Given the description of an element on the screen output the (x, y) to click on. 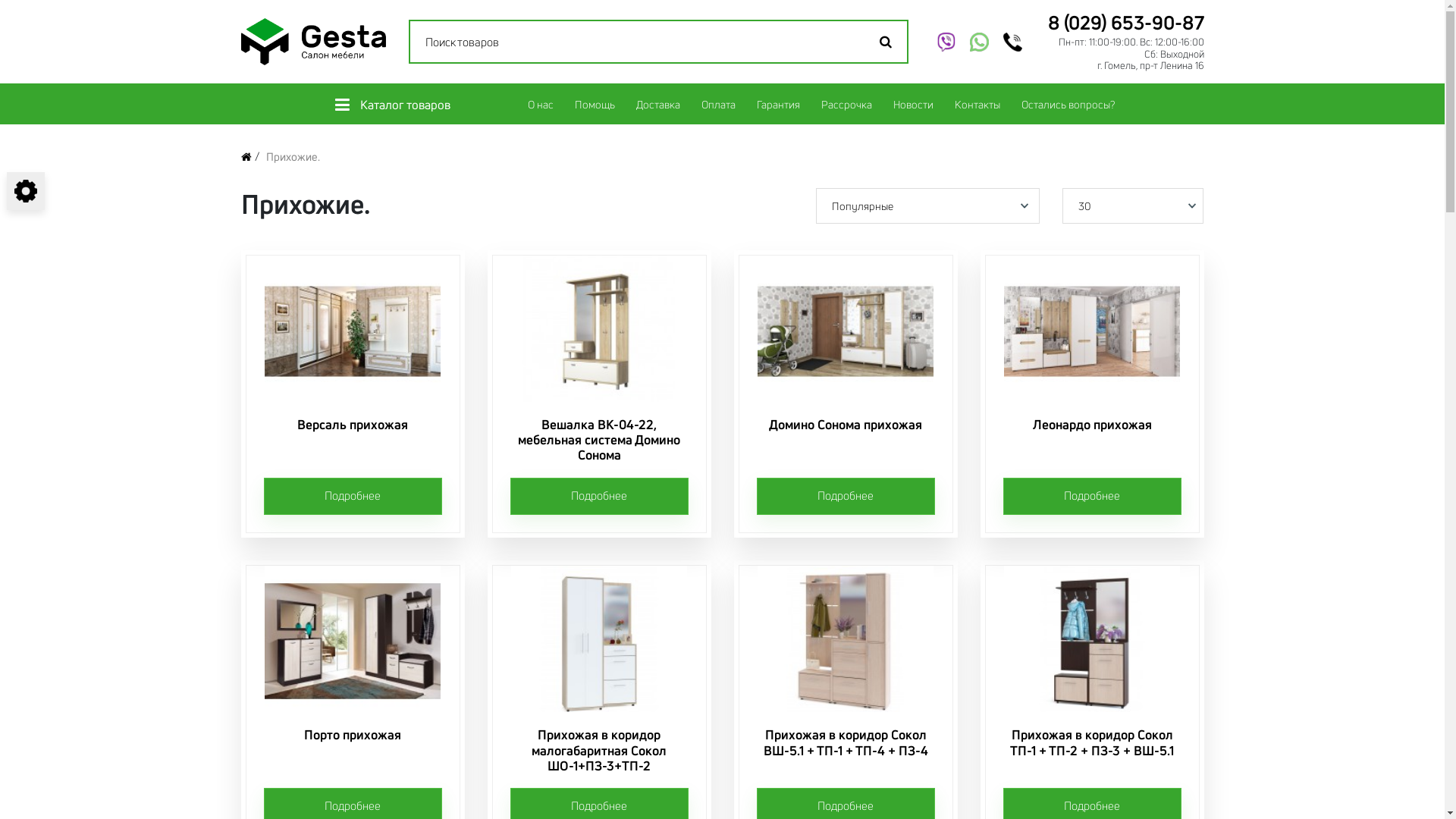
8 (029) 653-90-87 Element type: text (1126, 22)
